Given the description of an element on the screen output the (x, y) to click on. 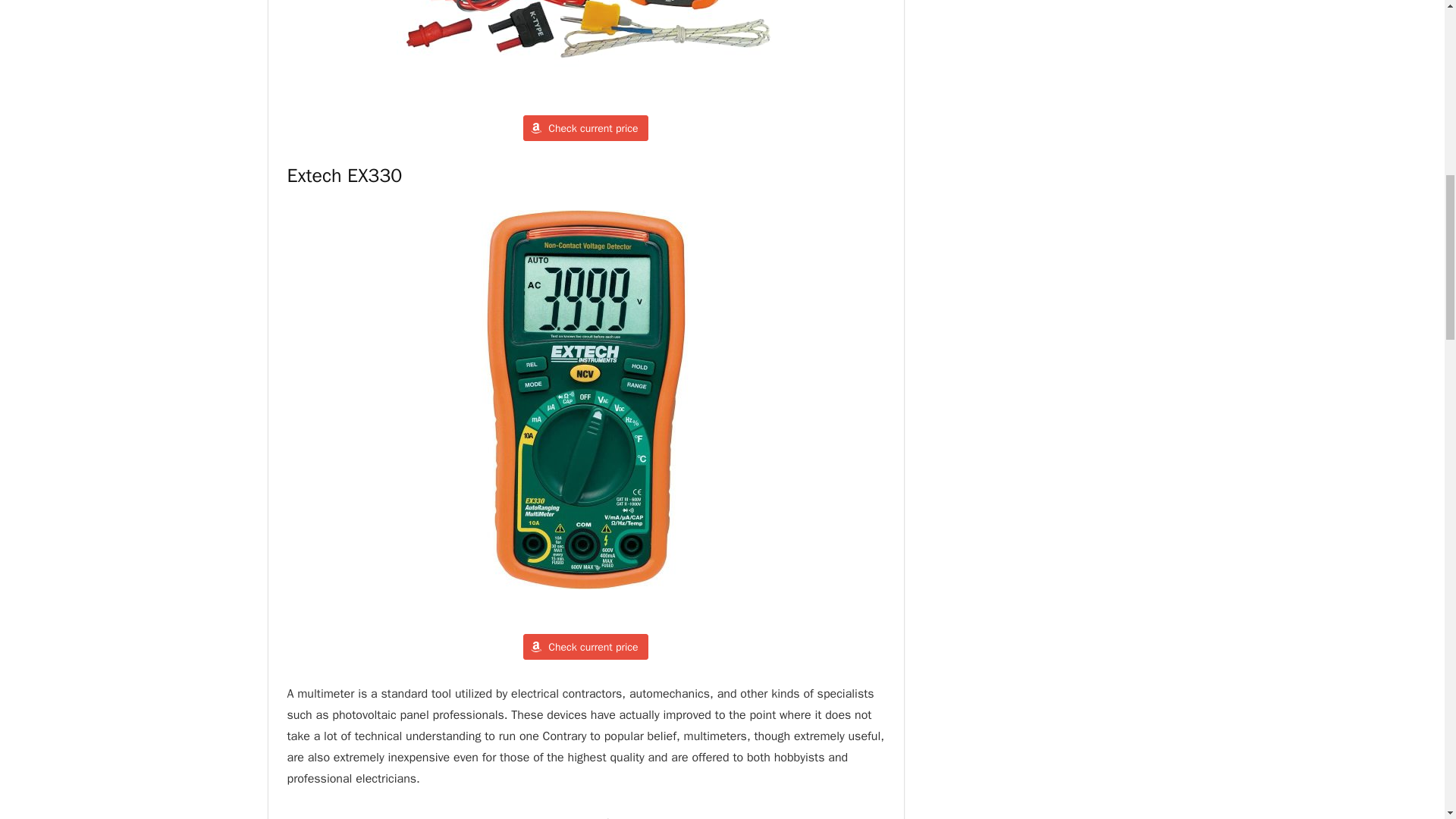
Check current price (584, 646)
Check current price (584, 127)
